Given the description of an element on the screen output the (x, y) to click on. 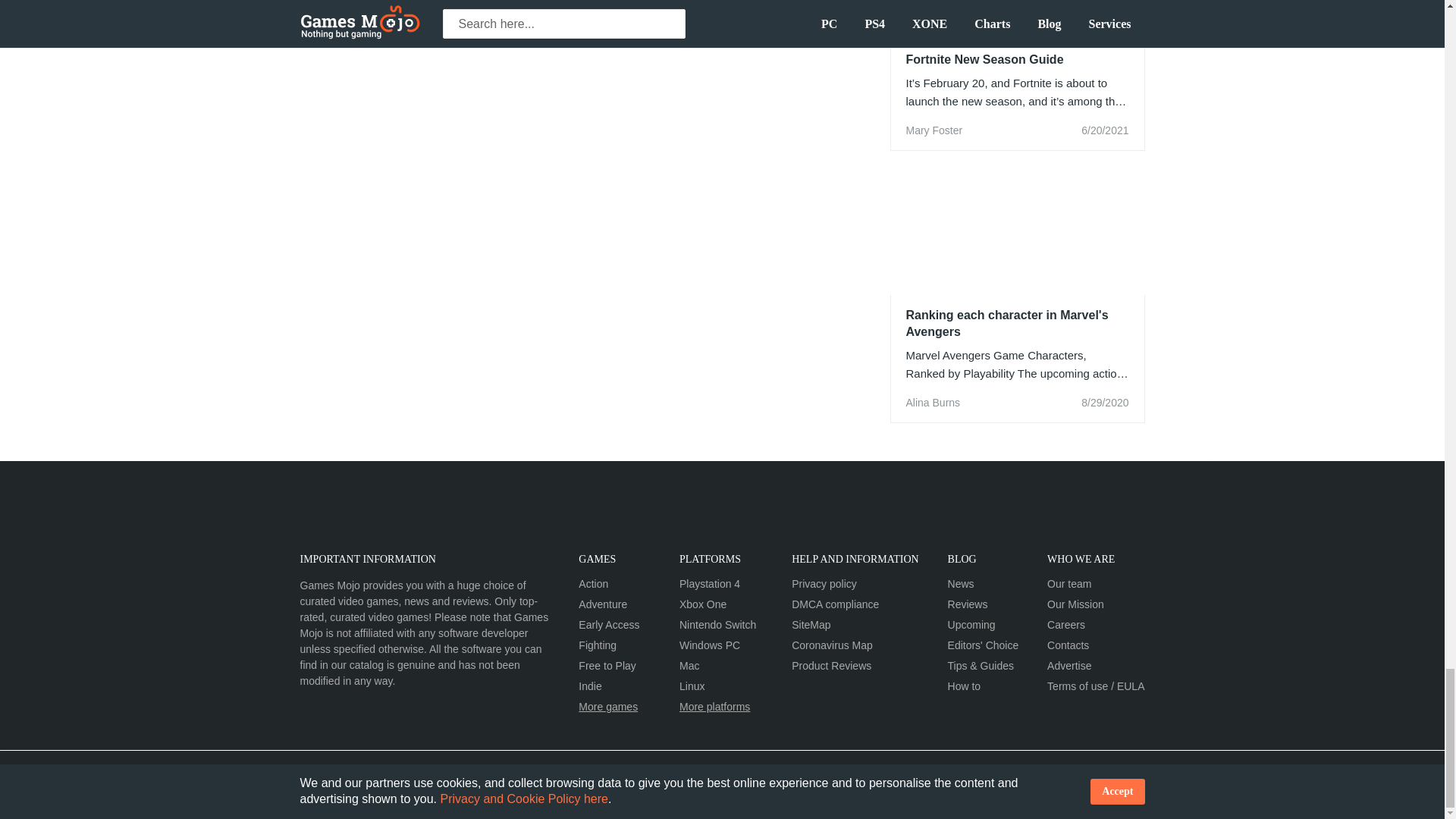
More platforms (757, 706)
